Given the description of an element on the screen output the (x, y) to click on. 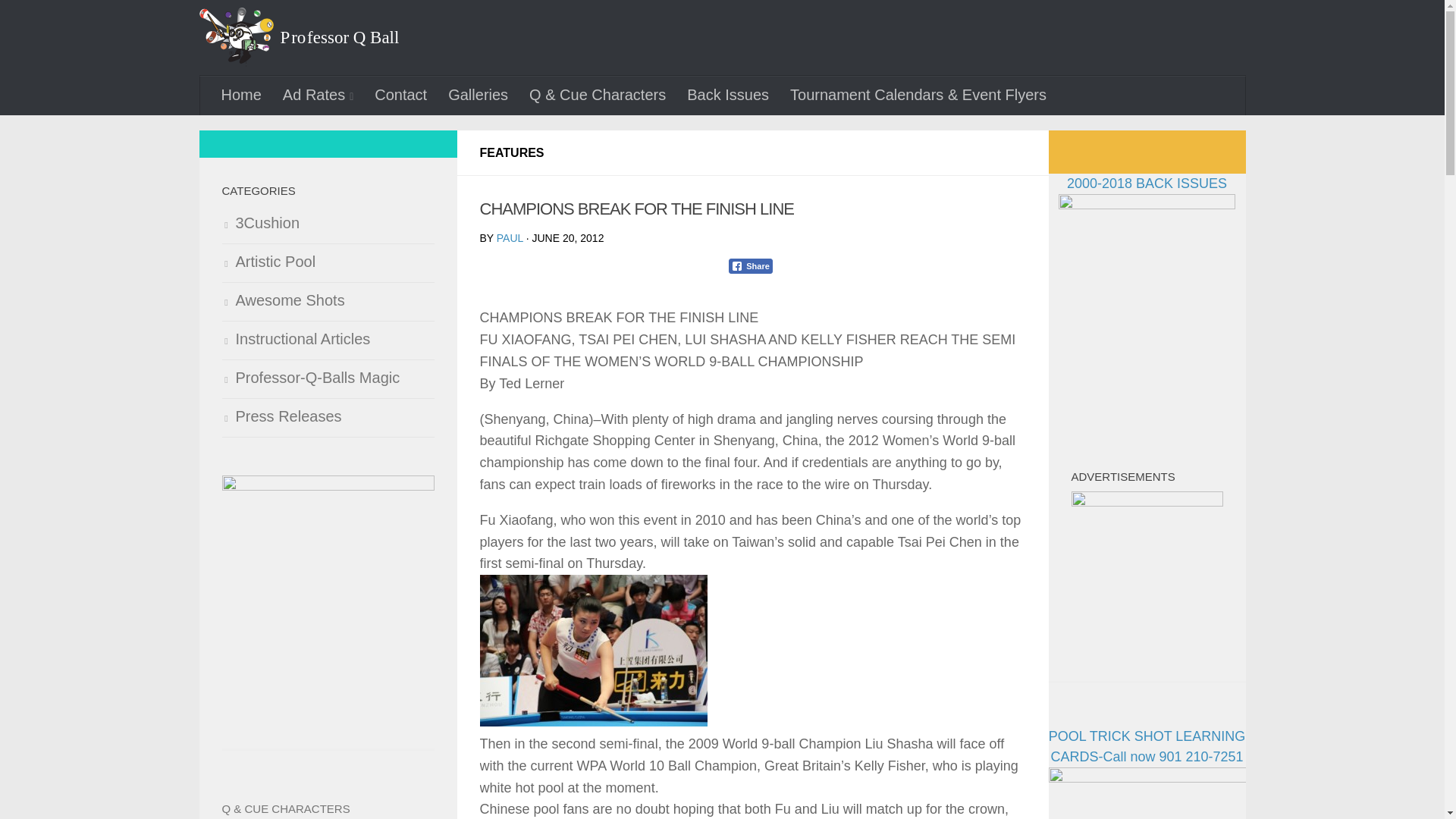
Home (241, 94)
Share (751, 265)
Awesome Shots (327, 301)
Back Issues (727, 94)
Artistic Pool (327, 263)
Instructional Articles (327, 340)
Ad Rates (318, 95)
PEACHAUER-AD-220x220 (1146, 566)
3Cushion (327, 224)
FEATURES (511, 152)
Posts by Paul (509, 237)
PAUL (509, 237)
Contact (401, 94)
Professor-Q-Balls Magic (327, 379)
2000-2018 BACK ISSUES (1146, 194)
